Given the description of an element on the screen output the (x, y) to click on. 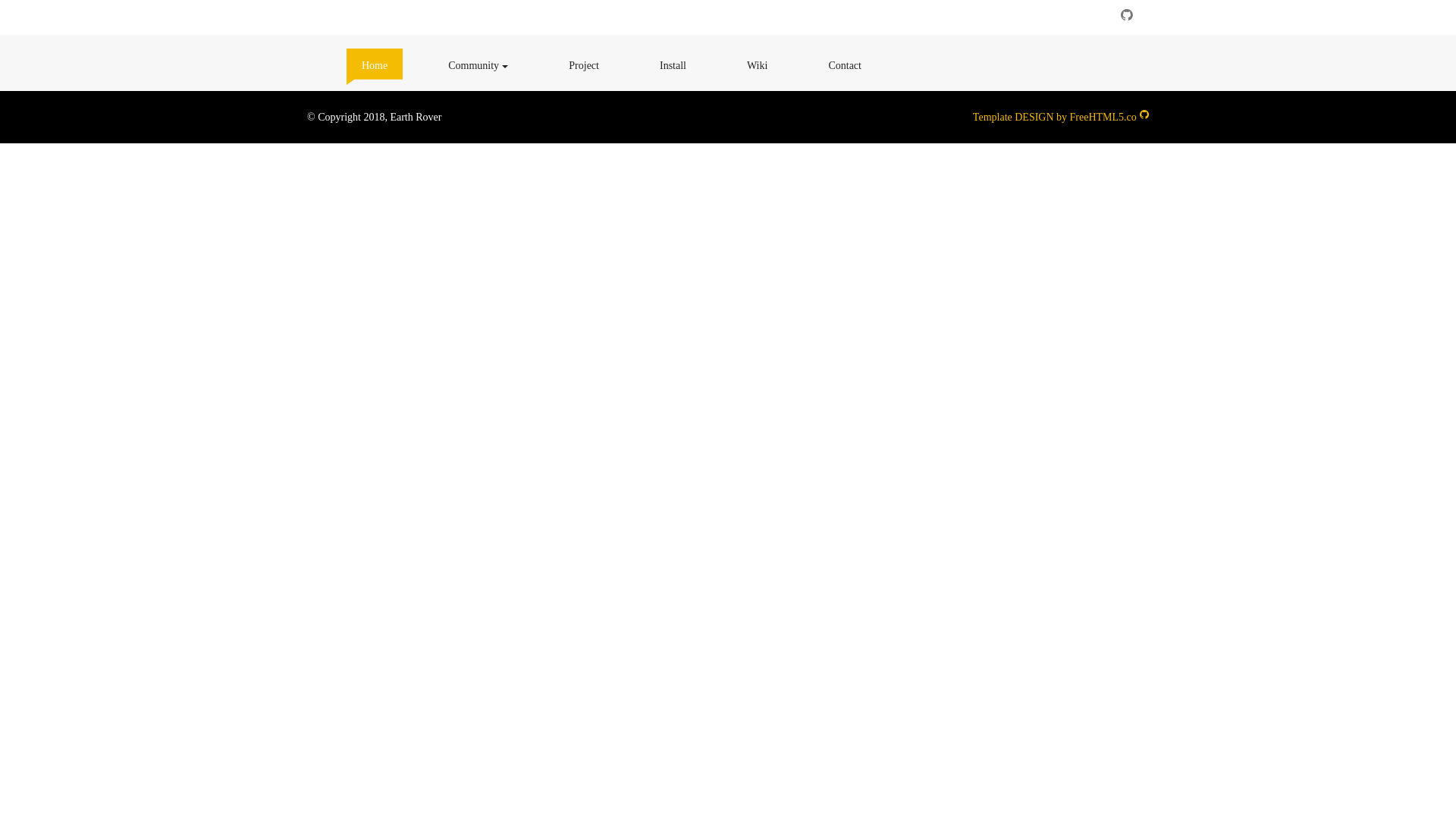
Community
(current) Element type: text (478, 66)
Wiki
(current) Element type: text (756, 66)
Project
(current) Element type: text (583, 66)
Template DESIGN by FreeHTML5.co Element type: text (1054, 117)
Install
(current) Element type: text (672, 66)
Contact
(current) Element type: text (844, 66)
Home
(current) Element type: text (374, 66)
